Given the description of an element on the screen output the (x, y) to click on. 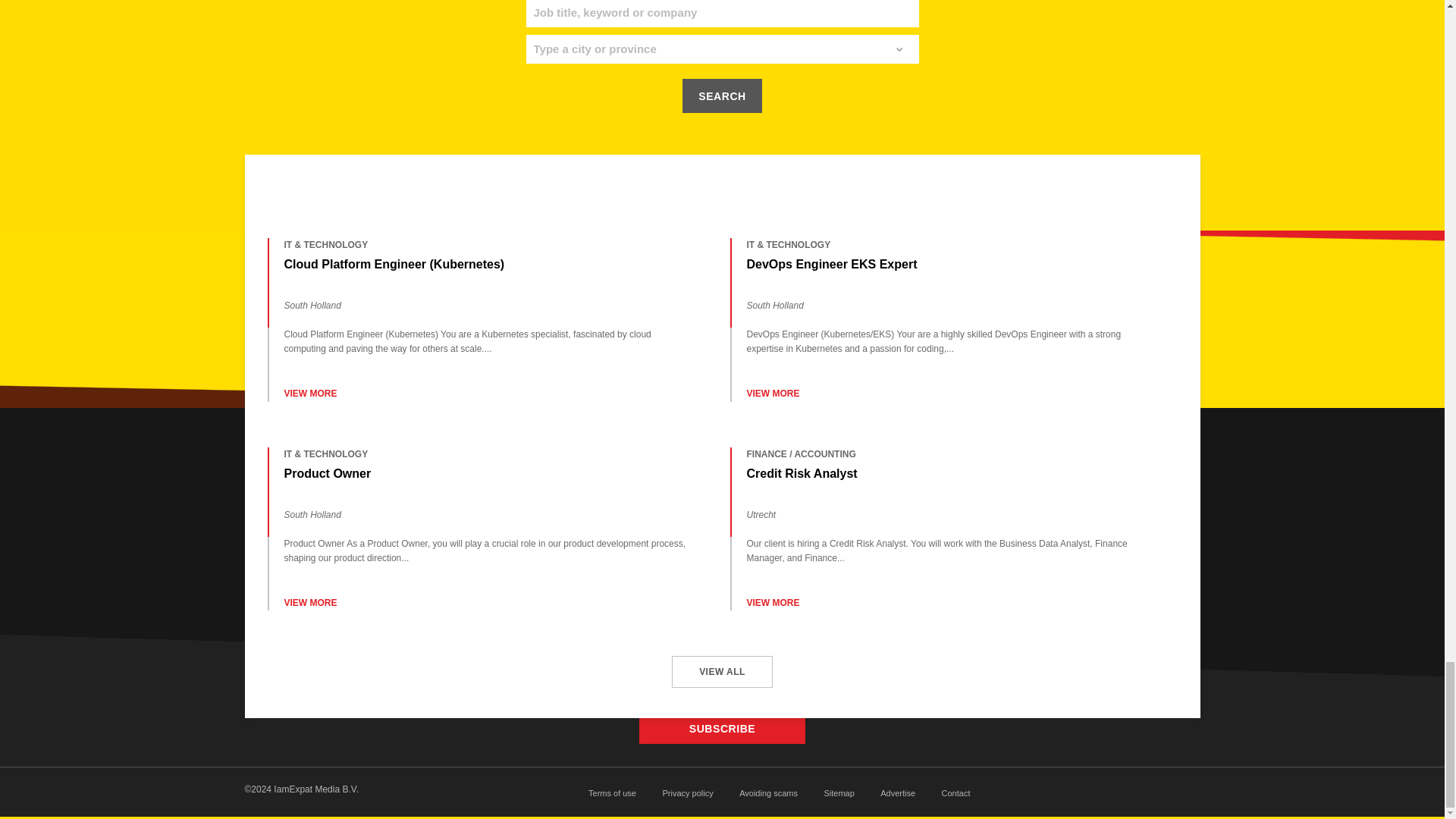
SEARCH (721, 95)
SEARCH (721, 95)
